Given the description of an element on the screen output the (x, y) to click on. 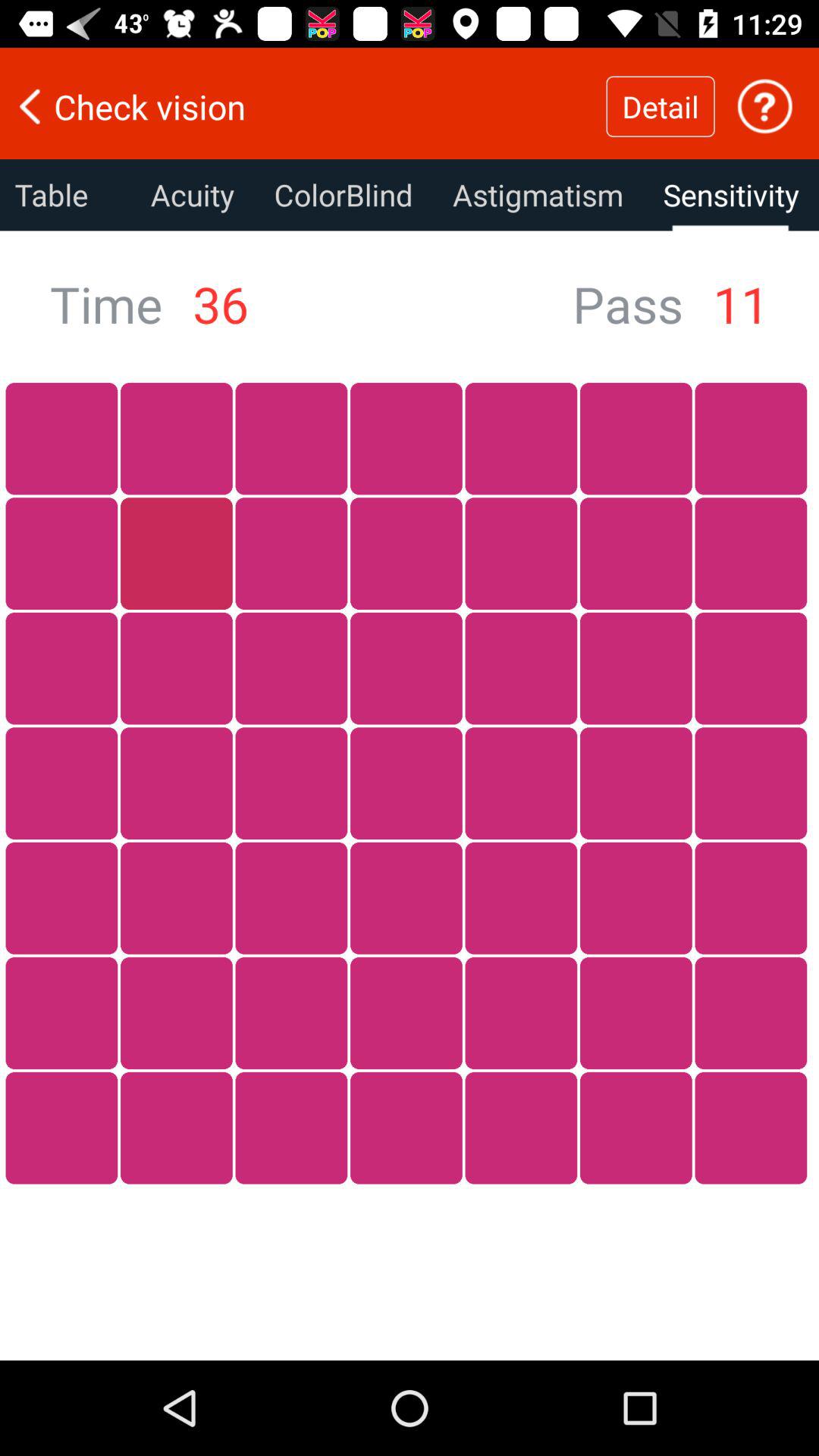
flip until the table icon (65, 194)
